Given the description of an element on the screen output the (x, y) to click on. 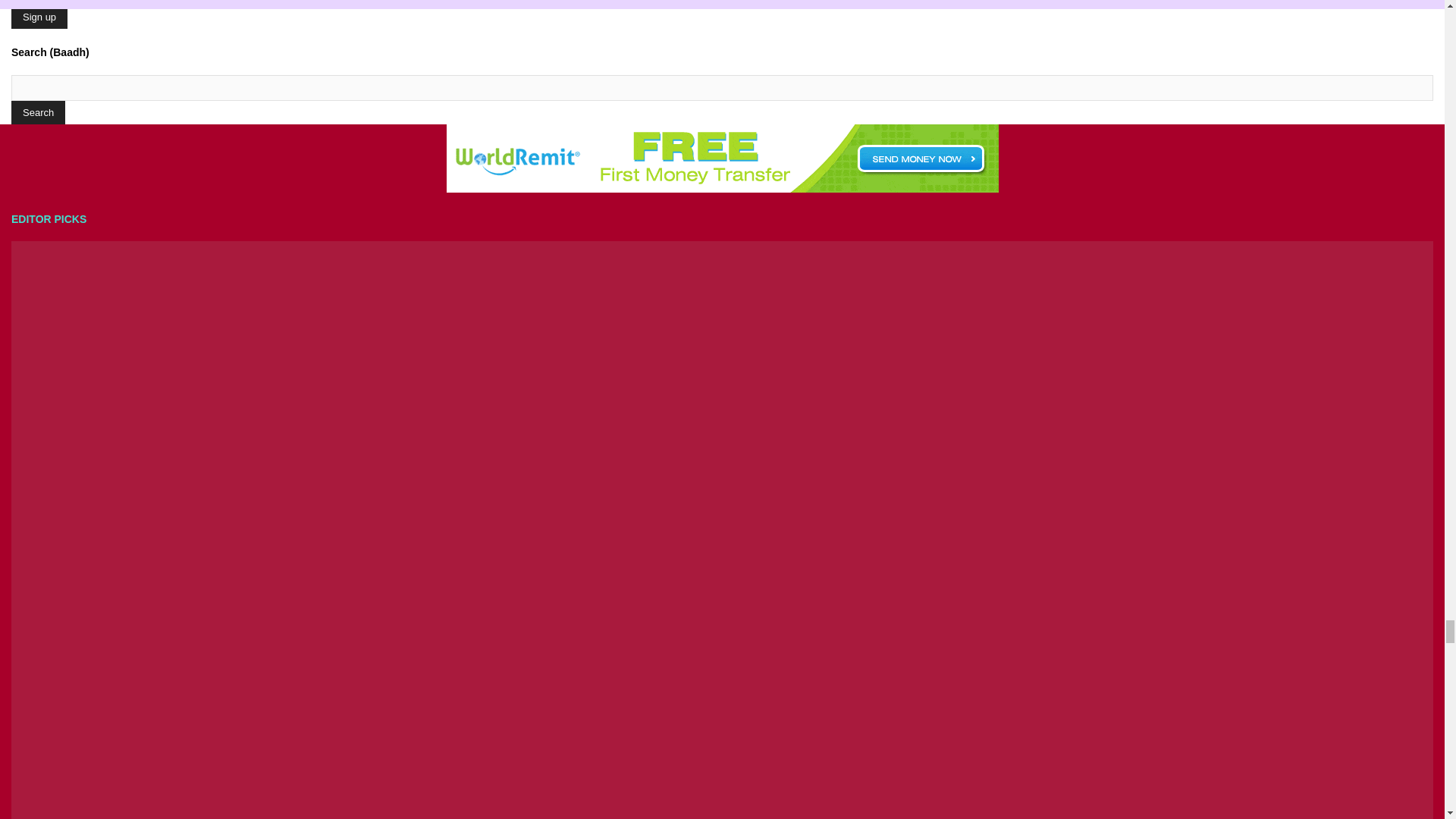
Search (38, 112)
Sign up (38, 16)
